Given the description of an element on the screen output the (x, y) to click on. 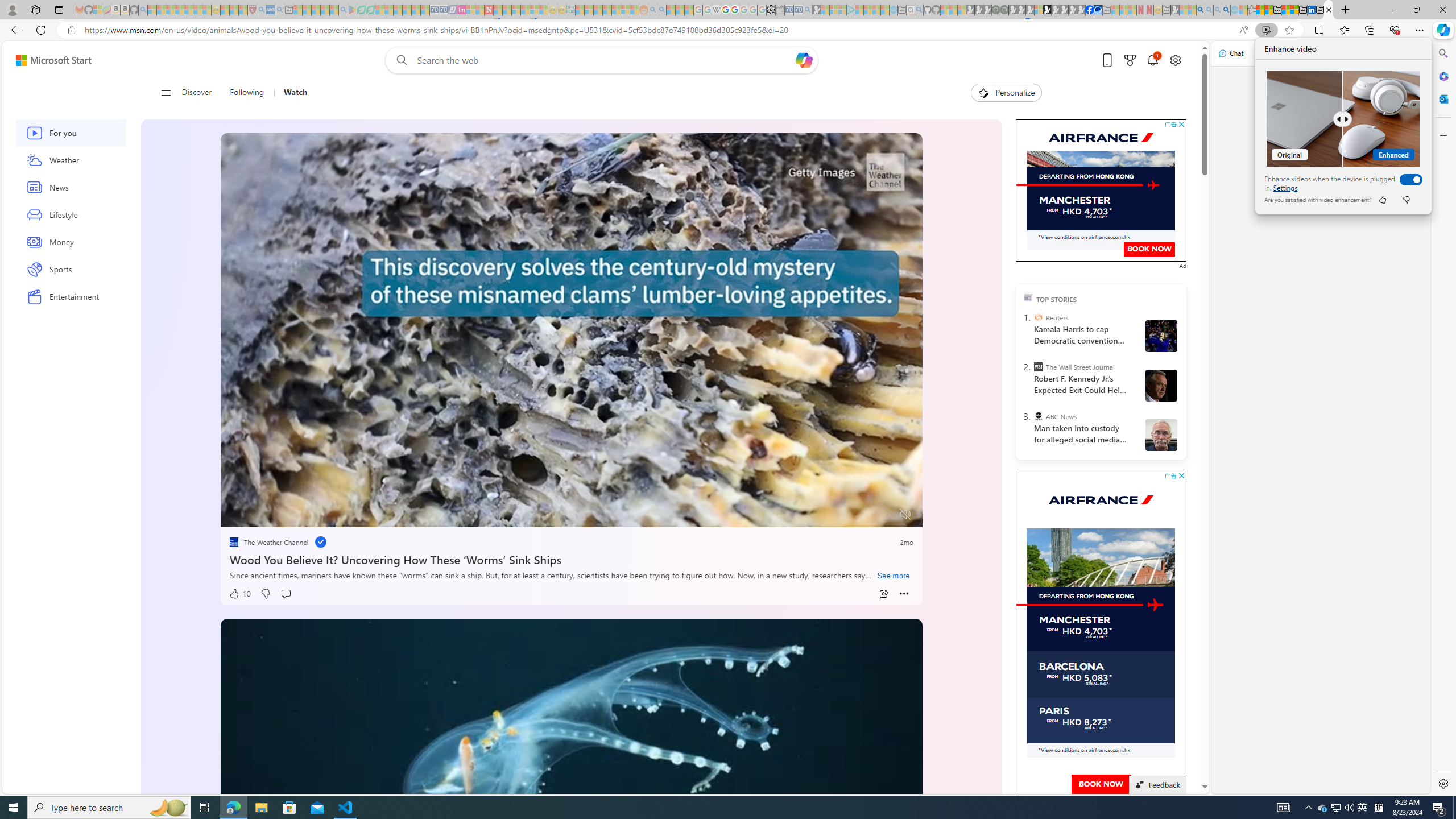
Sign in to your account - Sleeping (1038, 9)
The Wall Street Journal (1037, 366)
Search highlights icon opens search home window (167, 807)
File Explorer (261, 807)
Home | Sky Blue Bikes - Sky Blue Bikes - Sleeping (892, 9)
New Report Confirms 2023 Was Record Hot | Watch - Sleeping (188, 9)
Type here to search (108, 807)
14 Common Myths Debunked By Scientific Facts - Sleeping (506, 9)
To get missing image descriptions, open the context menu. (1155, 604)
